Given the description of an element on the screen output the (x, y) to click on. 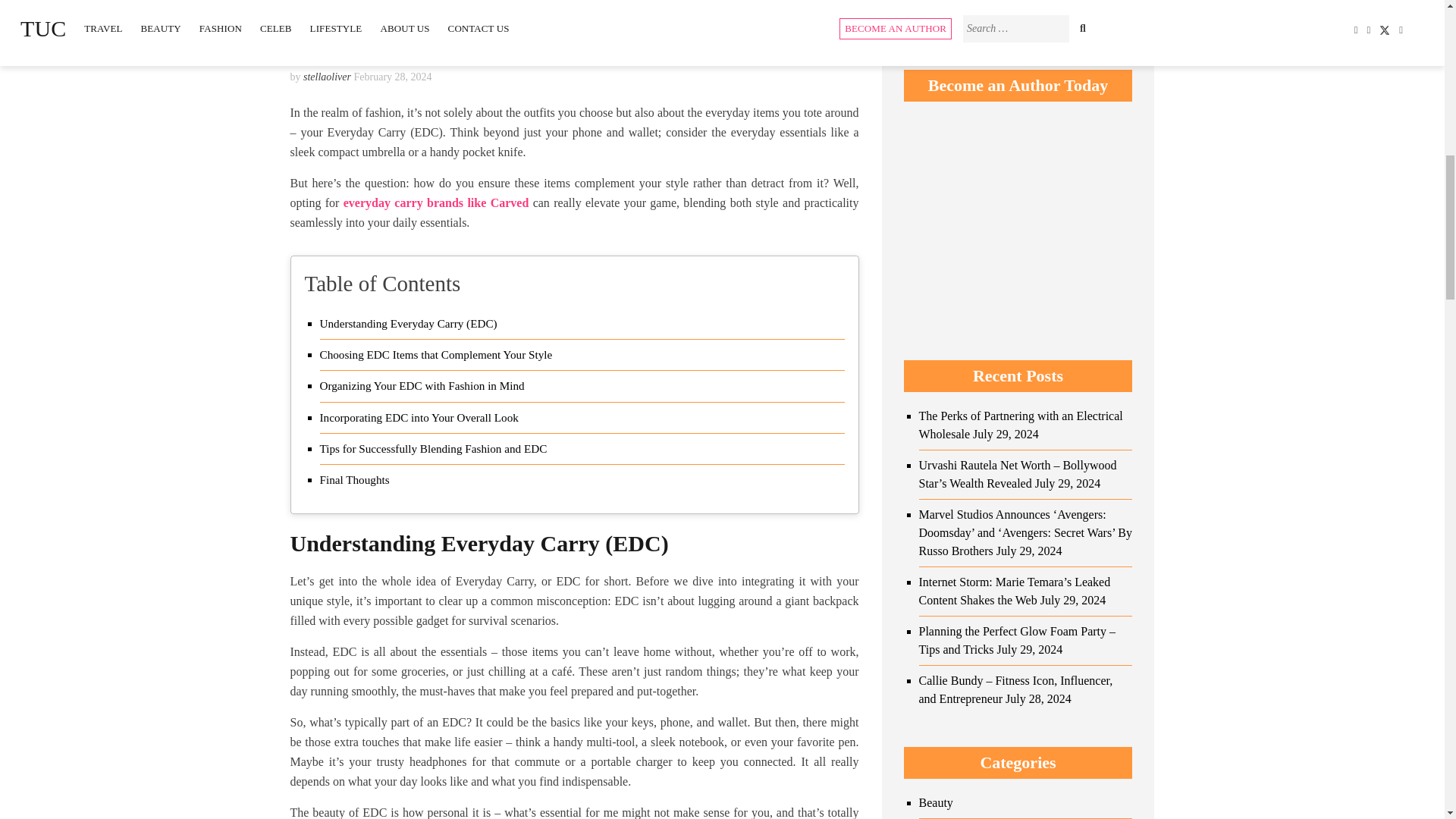
Incorporating EDC into Your Overall Look (419, 417)
Final Thoughts (355, 479)
Tips for Successfully Blending Fashion and EDC (433, 448)
Tips for Successfully Blending Fashion and EDC (433, 448)
Choosing EDC Items that Complement Your Style (436, 354)
Incorporating EDC into Your Overall Look (419, 417)
stellaoliver (326, 76)
Organizing Your EDC with Fashion in Mind (422, 385)
Final Thoughts (355, 479)
February 28, 2024 (391, 76)
Choosing EDC Items that Complement Your Style (436, 354)
everyday carry brands like Carved (436, 202)
Organizing Your EDC with Fashion in Mind (422, 385)
